Given the description of an element on the screen output the (x, y) to click on. 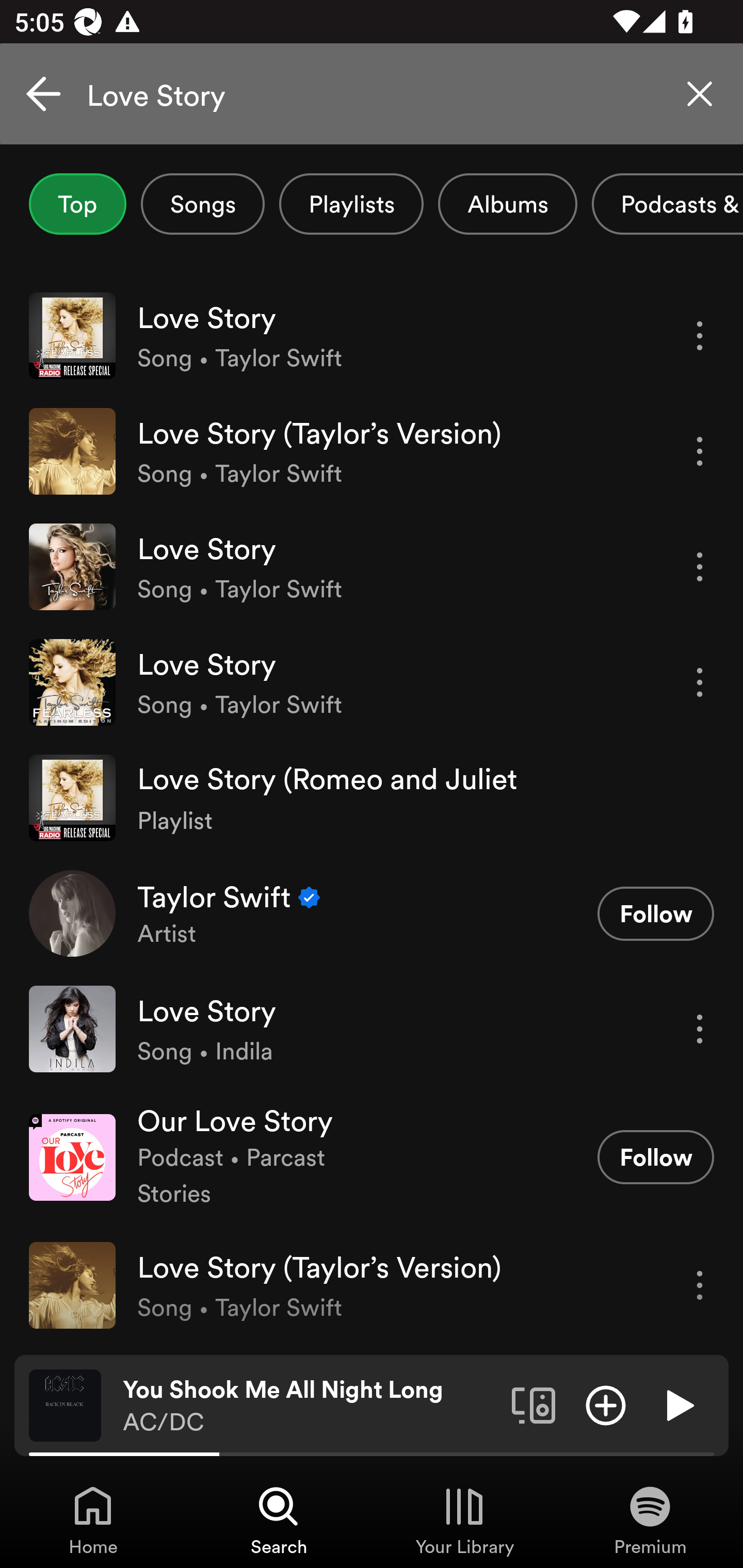
Love Story (371, 93)
Cancel (43, 93)
Clear search query (699, 93)
Top (77, 203)
Songs (202, 203)
Playlists (351, 203)
Albums (507, 203)
Podcasts & Shows (667, 203)
More options for song Love Story (699, 336)
More options for song Love Story (699, 566)
More options for song Love Story (699, 682)
Love Story (Romeo and Juliet Playlist (371, 798)
Taylor Swift Verified Artist Follow Follow (371, 913)
Follow (655, 912)
More options for song Love Story (699, 1029)
Follow (655, 1156)
You Shook Me All Night Long AC/DC (309, 1405)
The cover art of the currently playing track (64, 1404)
Connect to a device. Opens the devices menu (533, 1404)
Add item (605, 1404)
Play (677, 1404)
Home, Tab 1 of 4 Home Home (92, 1519)
Search, Tab 2 of 4 Search Search (278, 1519)
Your Library, Tab 3 of 4 Your Library Your Library (464, 1519)
Premium, Tab 4 of 4 Premium Premium (650, 1519)
